Given the description of an element on the screen output the (x, y) to click on. 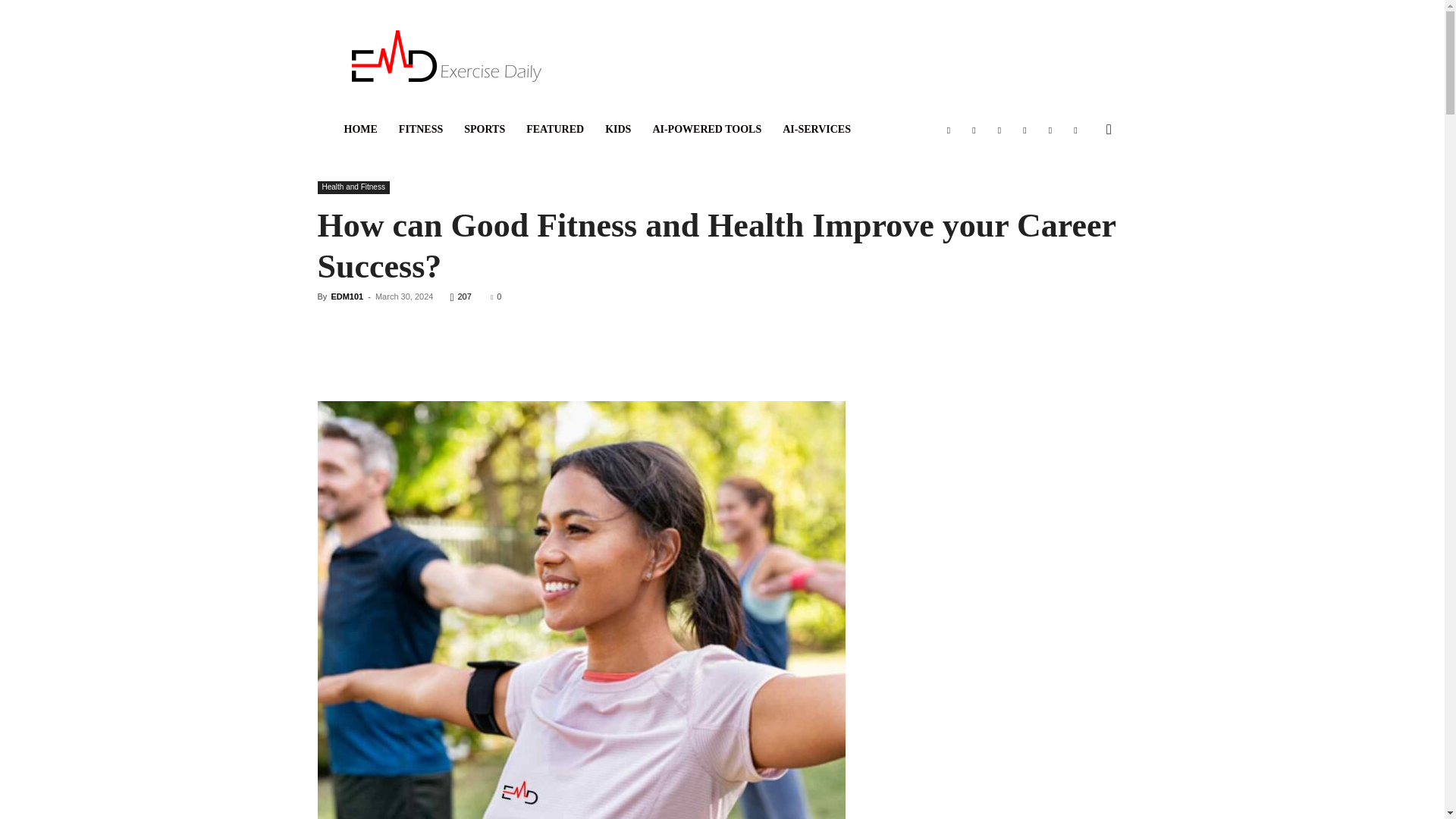
topFacebookLike (430, 324)
EXERCISE DAILY MAGAZINE  (446, 55)
